Given the description of an element on the screen output the (x, y) to click on. 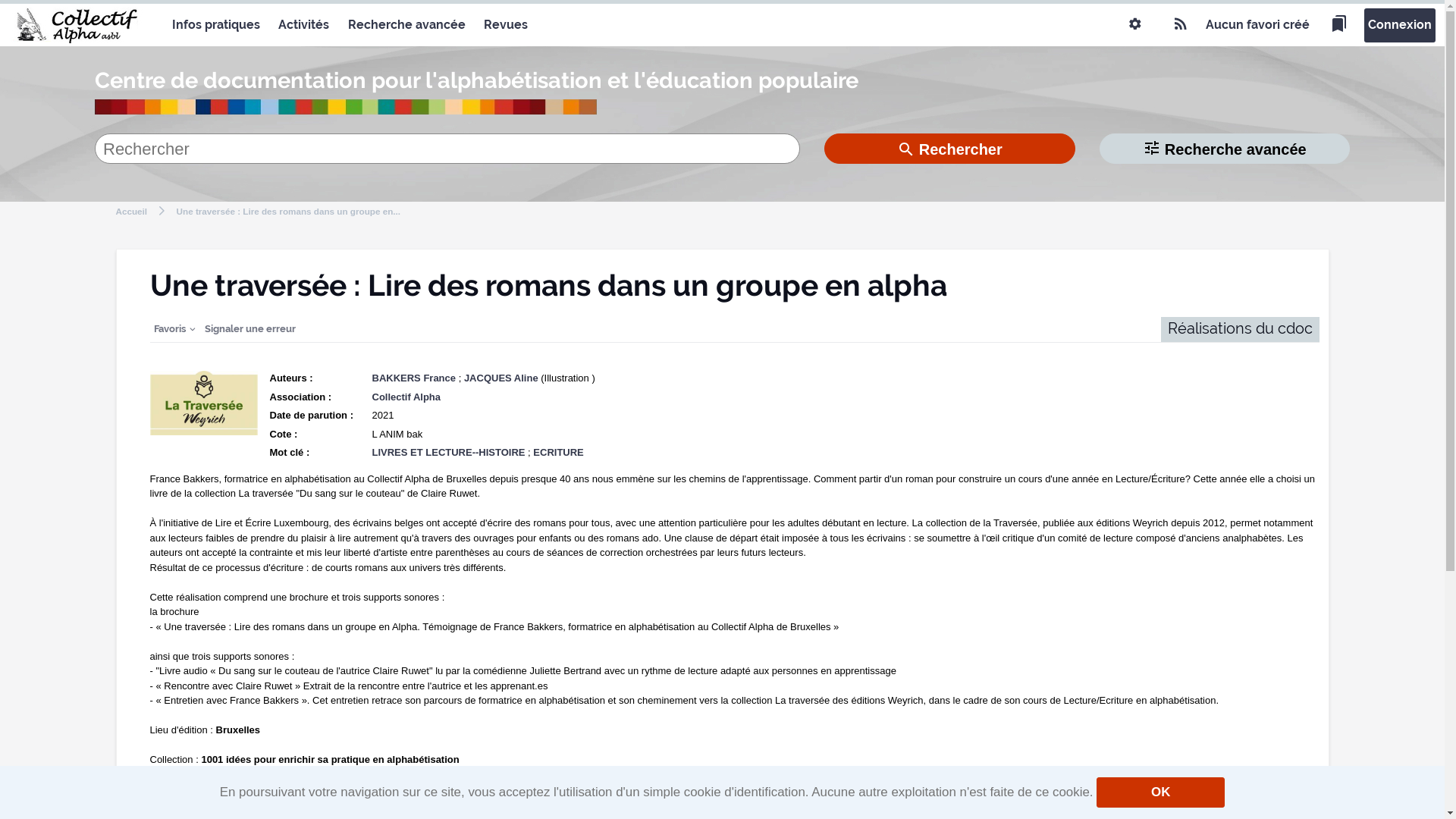
Signaler une erreur Element type: text (249, 328)
BAKKERS France Element type: text (413, 377)
Accueil Element type: text (131, 211)
Infos pratiques Element type: text (215, 24)
ECRITURE Element type: text (558, 452)
JACQUES Aline Element type: text (501, 377)
OK Element type: text (1160, 792)
Collectif Alpha Element type: text (405, 396)
Favoris Element type: text (174, 328)
Liste des fils RSS Element type: hover (1180, 24)
Rechercher Element type: text (949, 148)
Revues Element type: text (505, 24)
Connexion Element type: text (1399, 25)
LIVRES ET LECTURE--HISTOIRE Element type: text (447, 452)
